Given the description of an element on the screen output the (x, y) to click on. 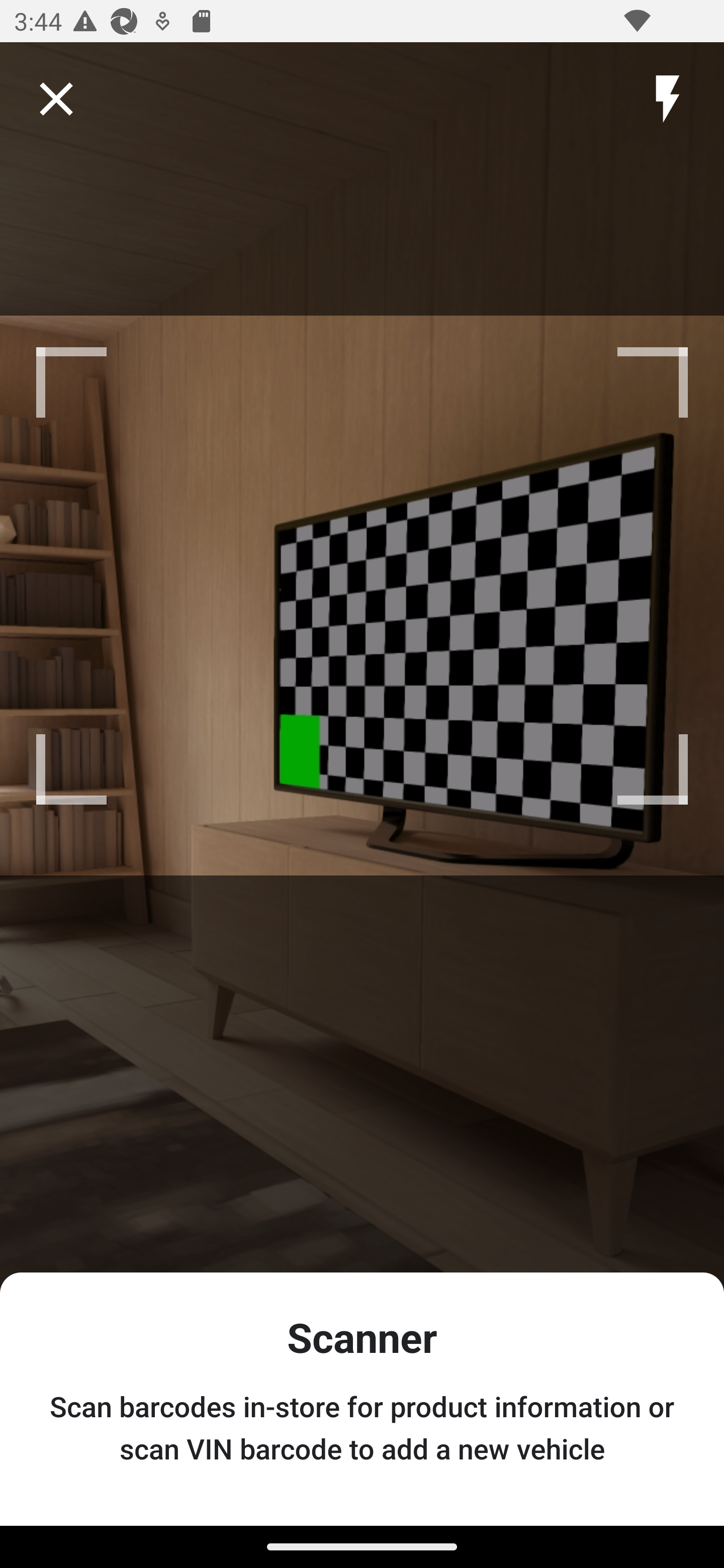
 (56, 98)
Flash  (667, 98)
